Given the description of an element on the screen output the (x, y) to click on. 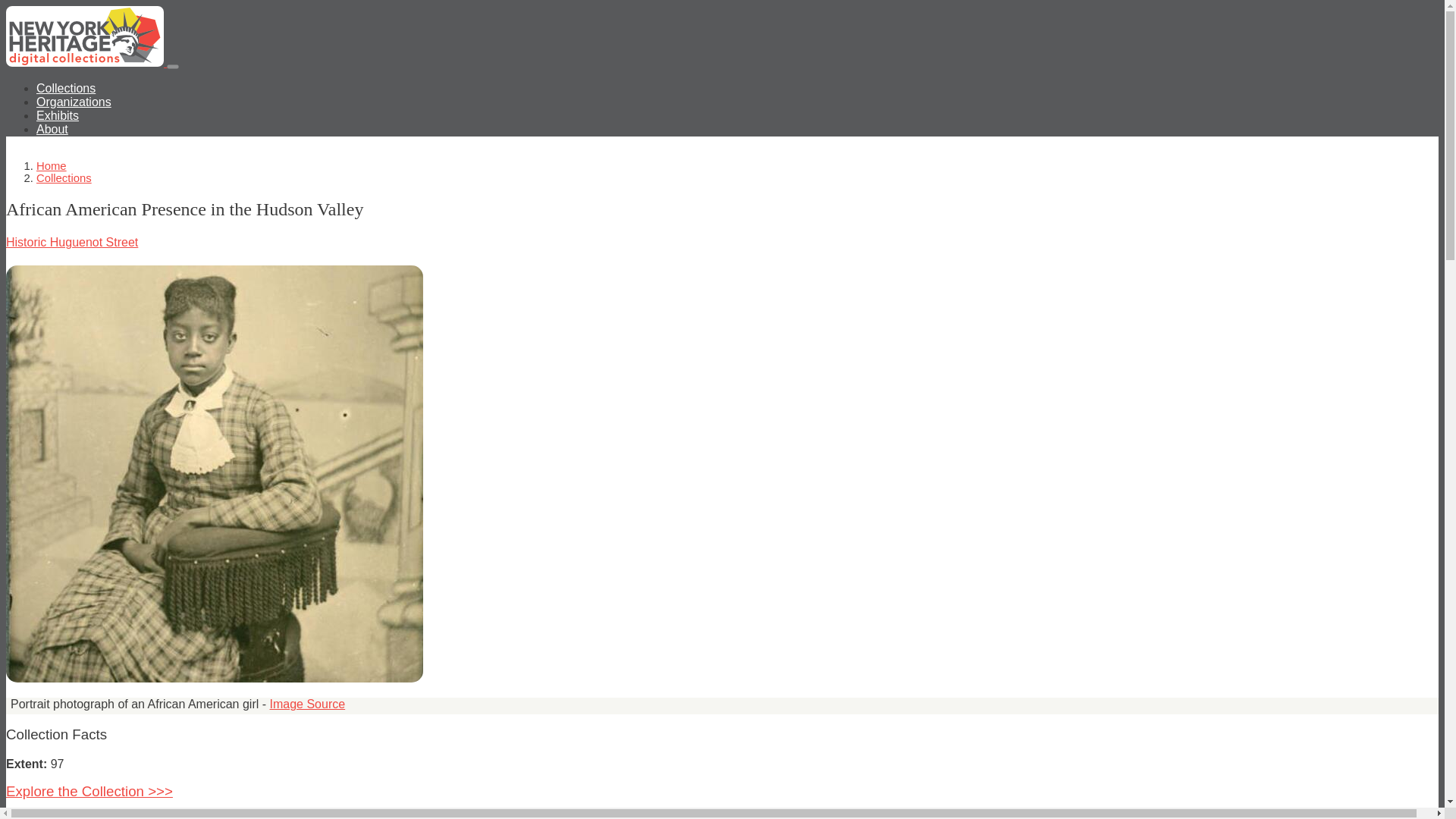
Collections (66, 88)
Home (51, 165)
Organizations (74, 101)
Skip to main content (722, 7)
Historic Huguenot Street (71, 241)
Image Source (307, 703)
Exhibits (57, 115)
Collections (63, 177)
Home (86, 62)
About (52, 128)
